Given the description of an element on the screen output the (x, y) to click on. 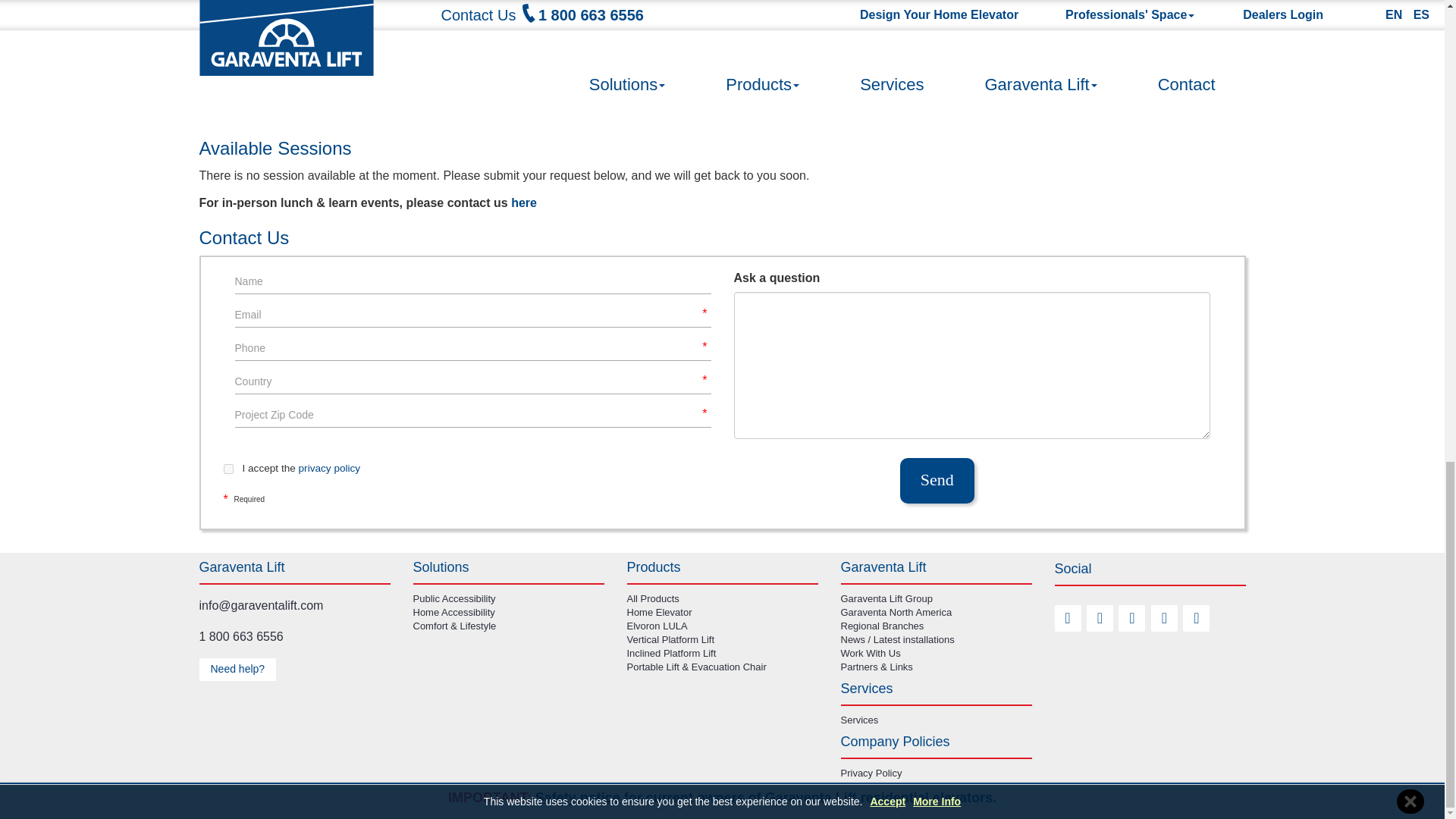
privacy policy (329, 468)
1 (227, 469)
here (522, 202)
Send (936, 480)
question (971, 364)
